Given the description of an element on the screen output the (x, y) to click on. 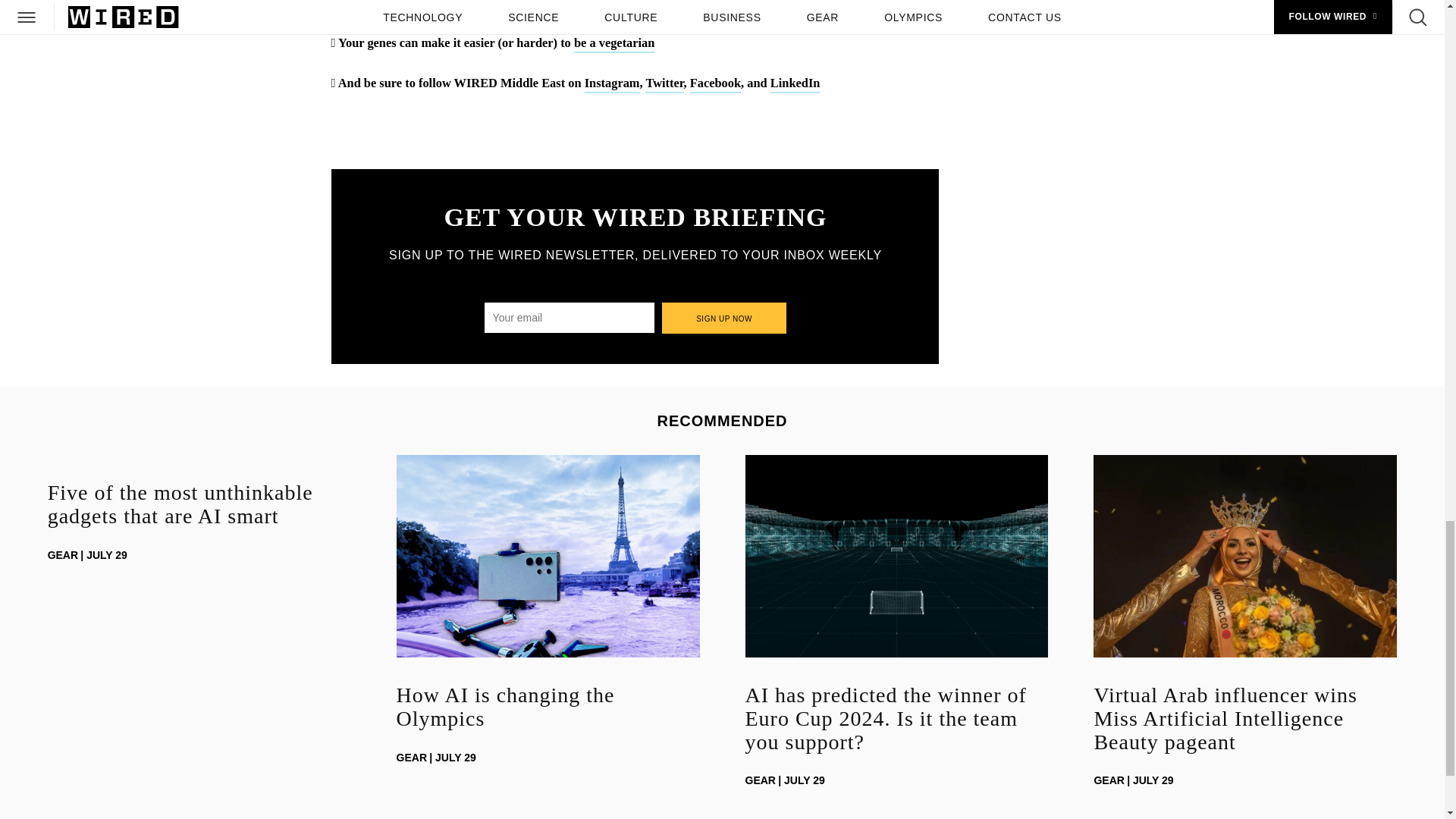
tattoos (469, 6)
Twitter (663, 84)
Sign up now (724, 317)
be a vegetarian (614, 44)
Instagram (612, 84)
